Given the description of an element on the screen output the (x, y) to click on. 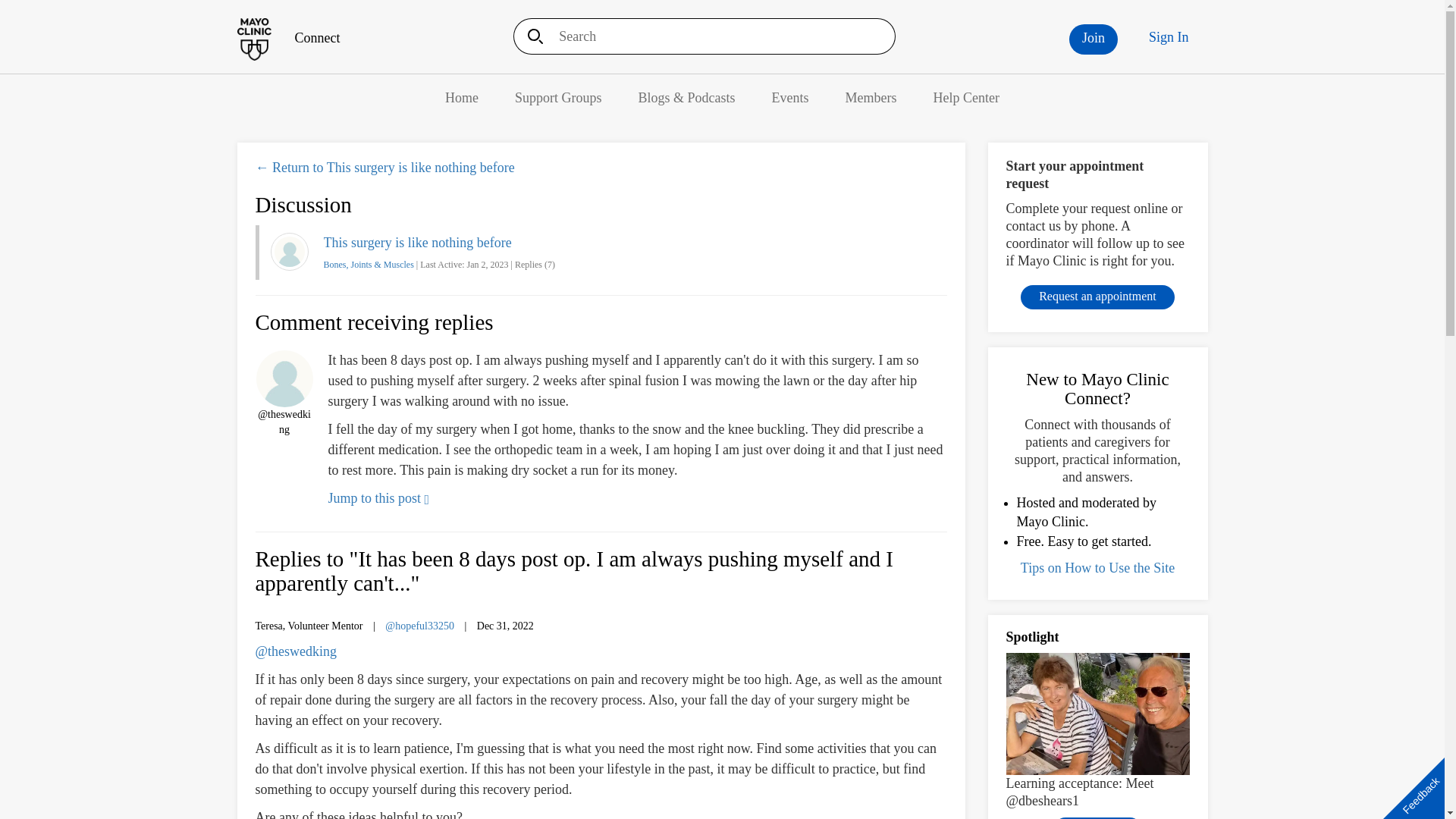
Home (287, 37)
Members (870, 97)
Events (790, 97)
Search (530, 36)
Support Groups (558, 97)
Tips on How to Use the Site (1097, 567)
Help Center (965, 97)
Events (790, 97)
Members (870, 97)
Sign In (1169, 37)
This surgery is like nothing before (417, 242)
Support Groups (558, 97)
Help Center (965, 97)
Jump to this post (378, 498)
Home (462, 97)
